Given the description of an element on the screen output the (x, y) to click on. 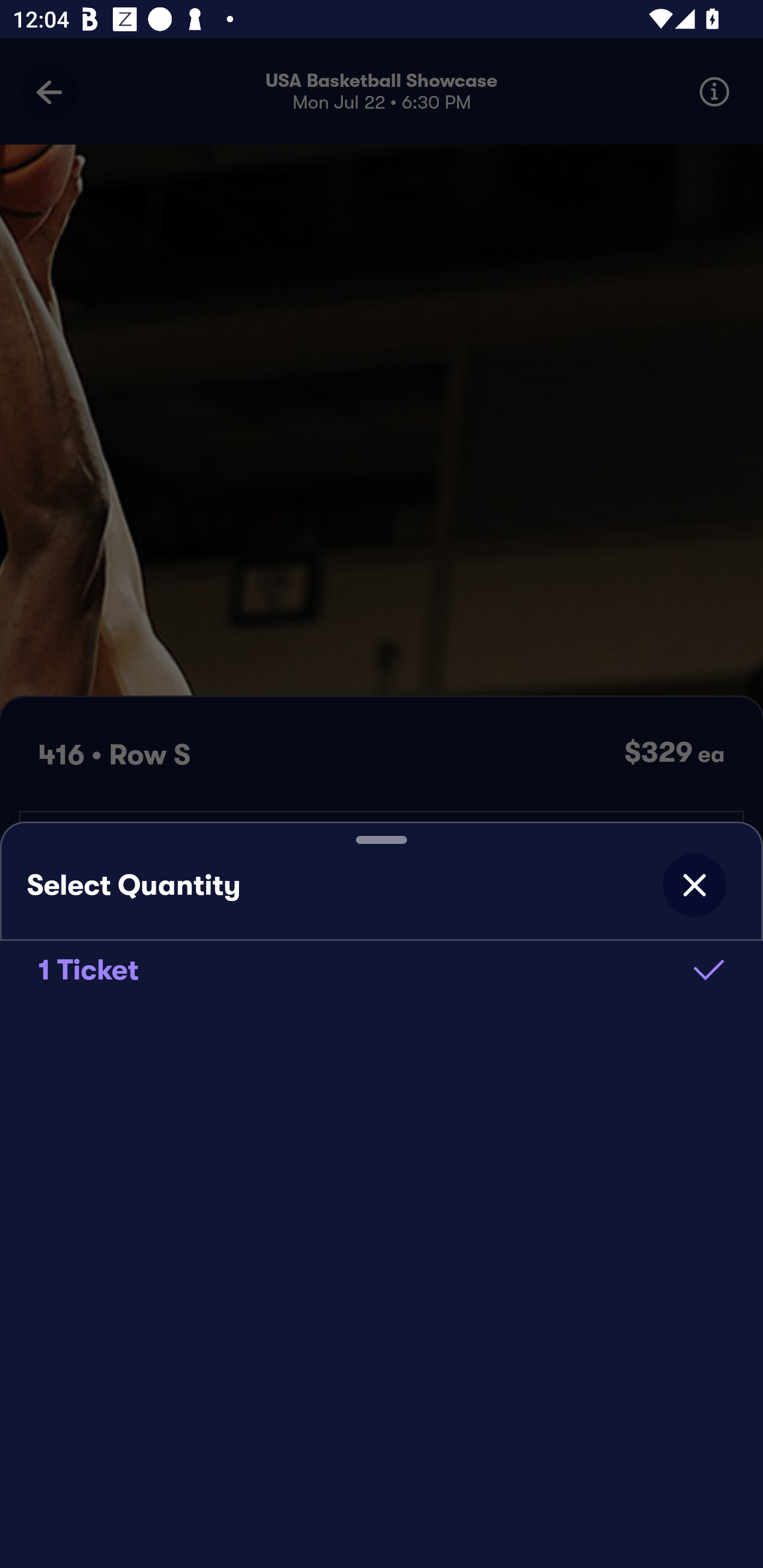
close (694, 884)
1 Ticket (381, 969)
